Given the description of an element on the screen output the (x, y) to click on. 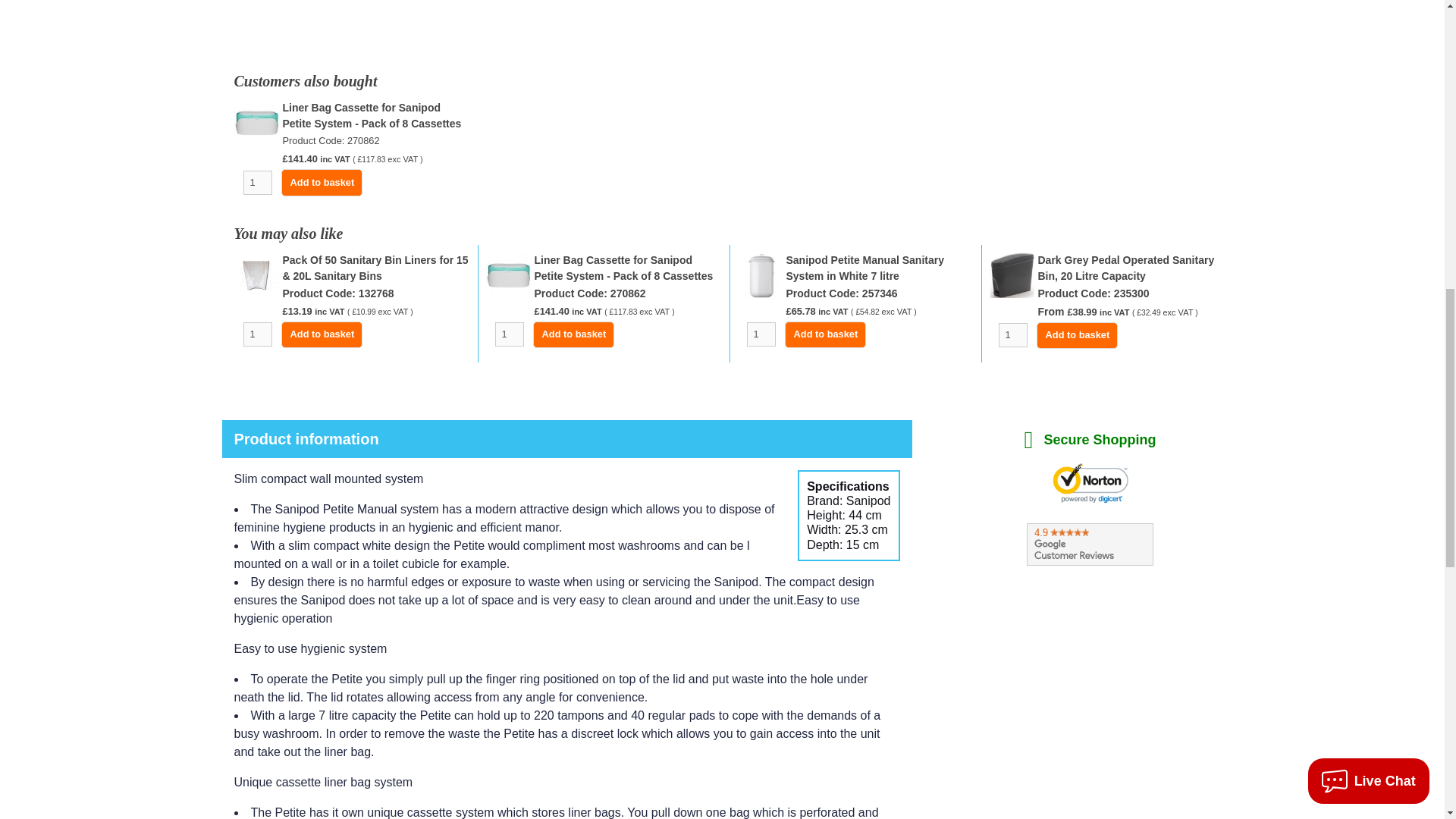
1 (1011, 334)
Add to basket (825, 334)
1 (508, 334)
Add to basket (573, 334)
Add to basket (1077, 335)
Add to basket (321, 181)
1 (759, 334)
Add to basket (321, 334)
1 (256, 182)
1 (256, 334)
